Given the description of an element on the screen output the (x, y) to click on. 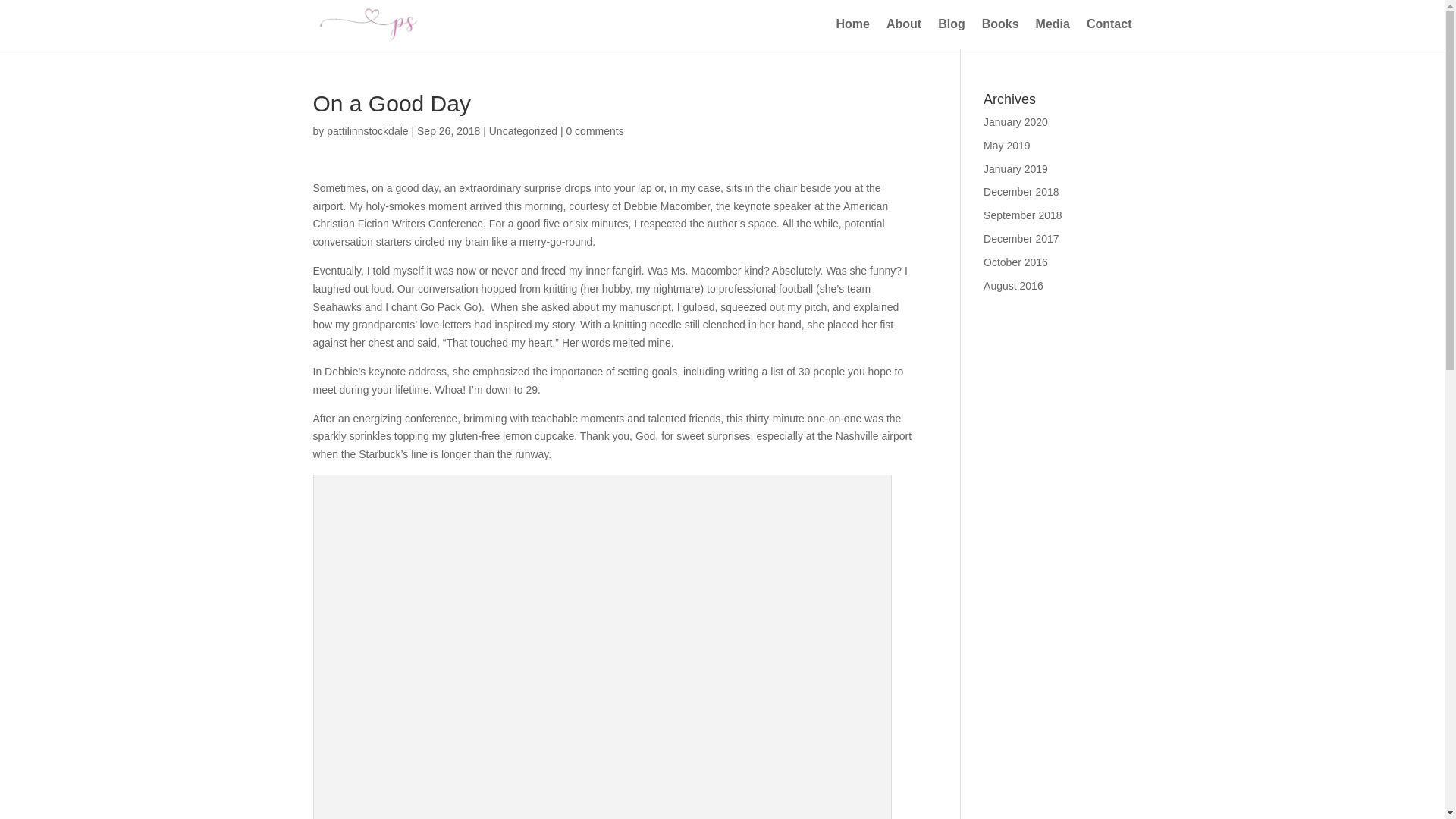
pattilinnstockdale (366, 131)
0 comments (594, 131)
Home (852, 33)
December 2017 (1021, 238)
Posts by pattilinnstockdale (366, 131)
December 2018 (1021, 191)
August 2016 (1013, 285)
September 2018 (1023, 215)
Blog (951, 33)
Media (1052, 33)
